Given the description of an element on the screen output the (x, y) to click on. 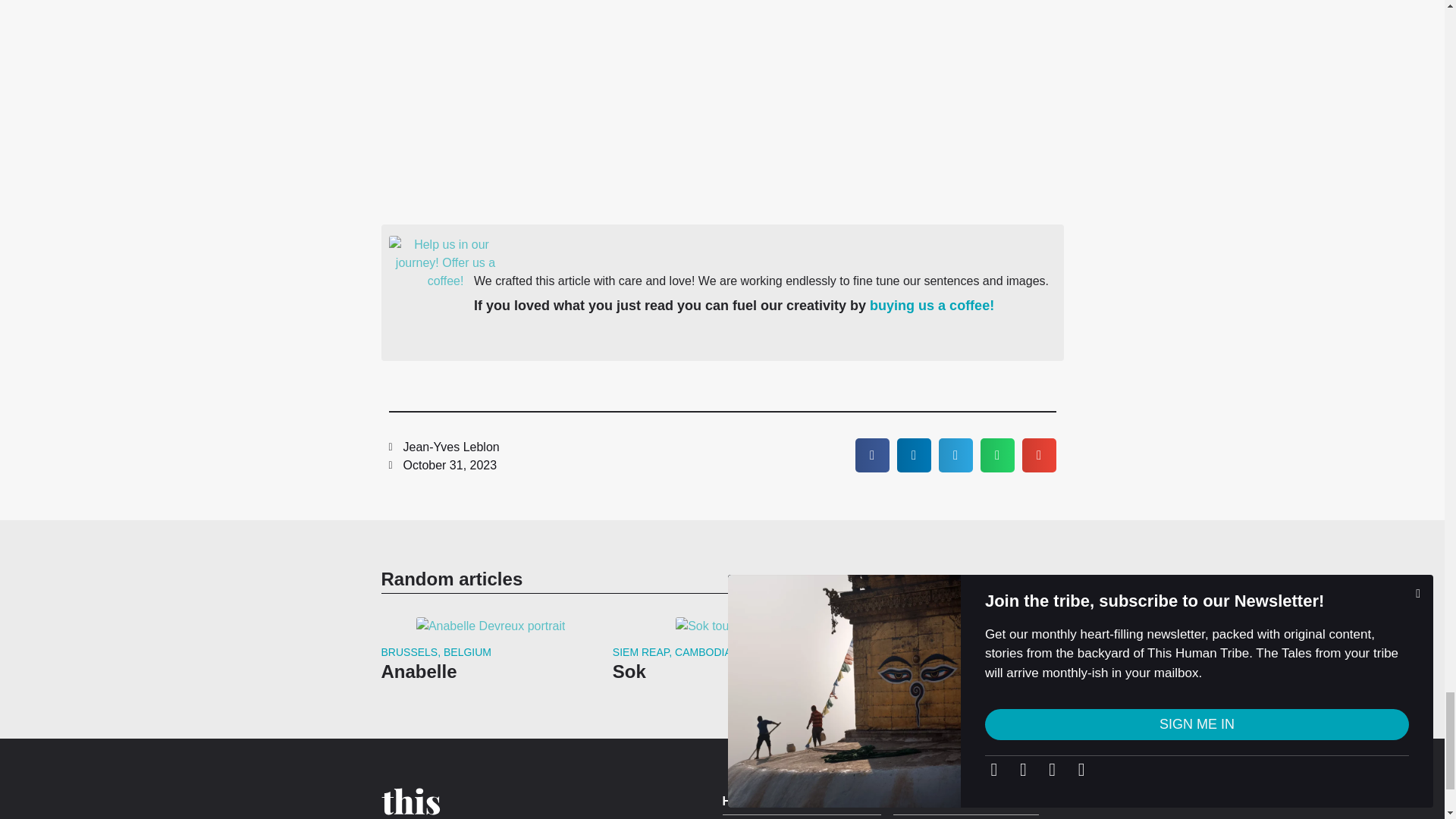
buying us a coffee! (931, 305)
THT-Article-KohRongs (953, 634)
Sok tour Guide (721, 626)
Sok (629, 670)
October 31, 2023 (442, 465)
The Sisters of the Sea (938, 688)
Jean-Yves Leblon (443, 447)
Anabelle (418, 670)
Anabelle Devreux portrait (491, 626)
